Given the description of an element on the screen output the (x, y) to click on. 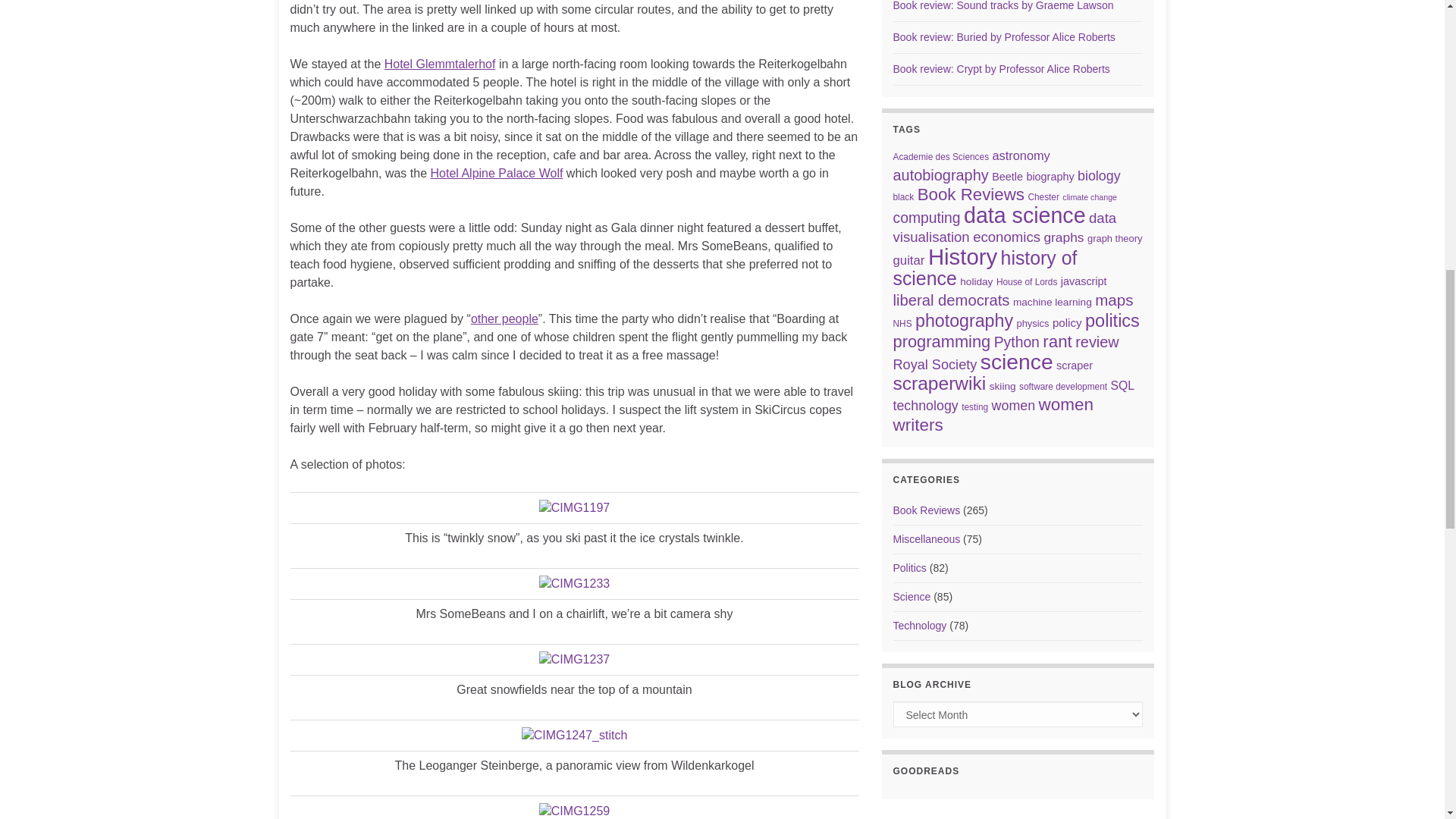
CIMG1259 (574, 811)
other people (504, 318)
CIMG1237 (574, 660)
Hotel Glemmtalerhof (440, 63)
CIMG1233 (574, 583)
Hotel Alpine Palace Wolf (496, 173)
CIMG1197 (574, 507)
